Given the description of an element on the screen output the (x, y) to click on. 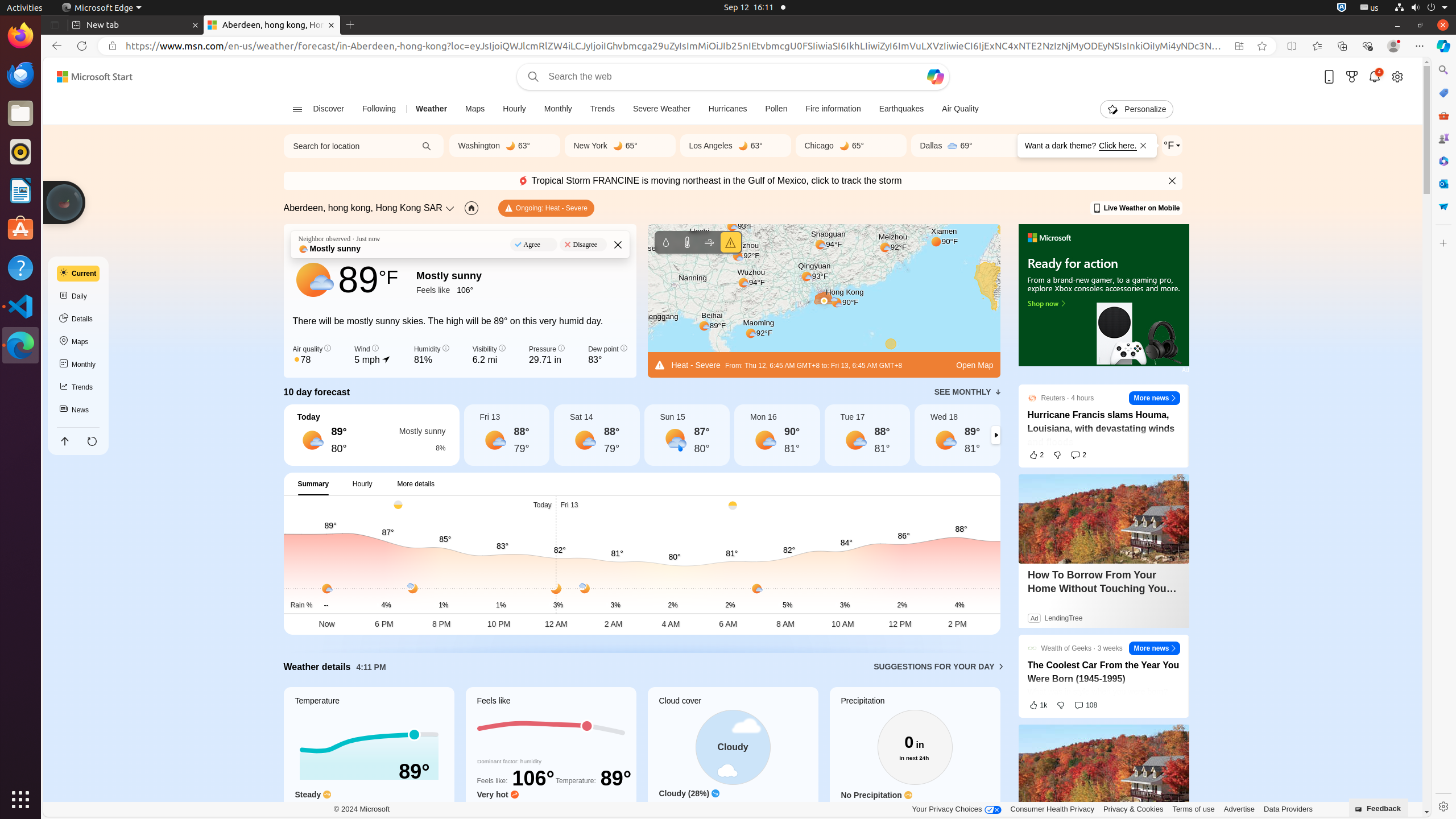
Thunderbird Mail Element type: push-button (20, 74)
Refresh this page Element type: push-button (91, 441)
Add this page to favorites (Ctrl+D) Element type: push-button (1261, 46)
Hourly Element type: page-tab (362, 483)
Following Element type: link (378, 108)
